Given the description of an element on the screen output the (x, y) to click on. 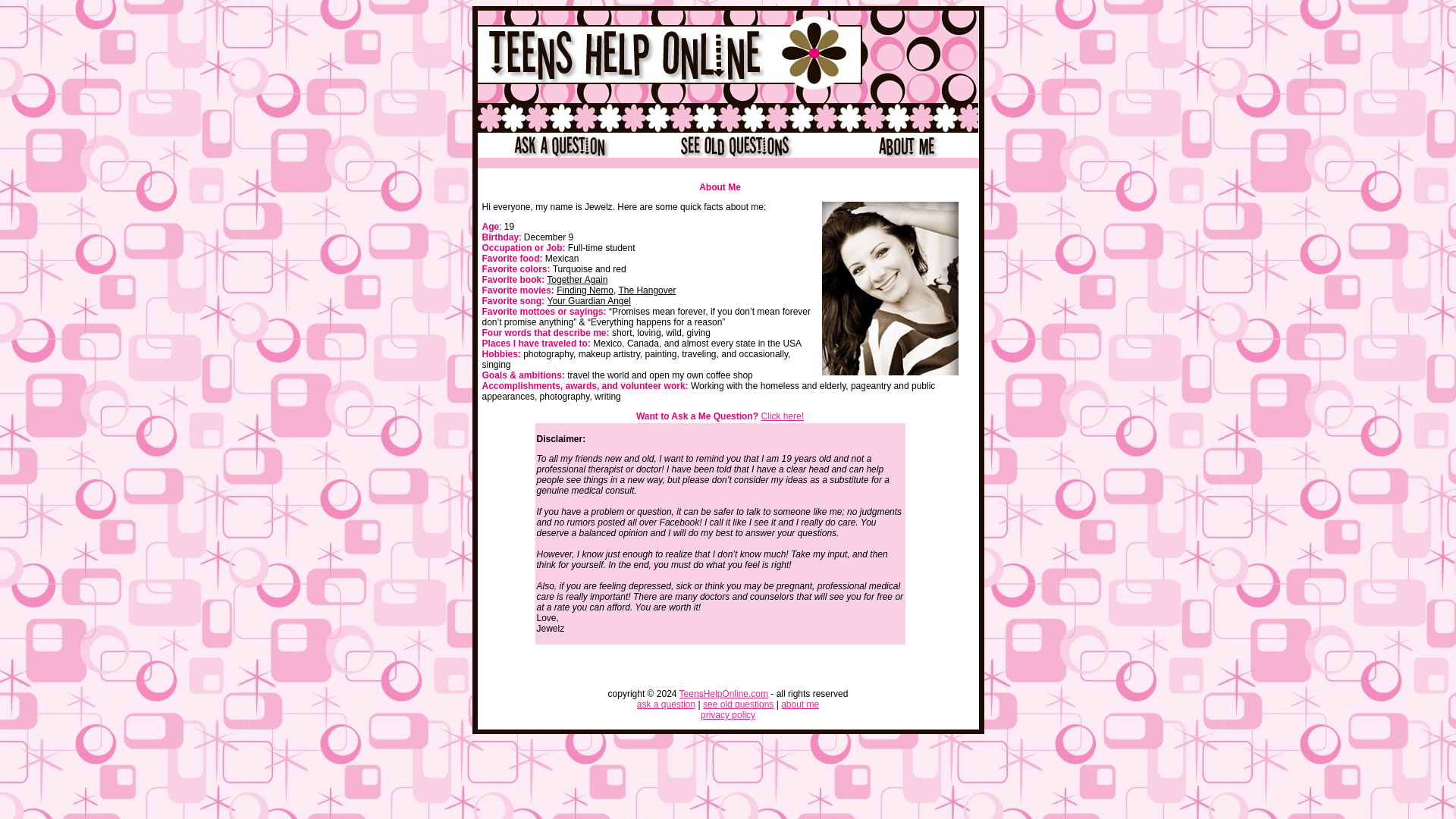
about me (799, 704)
Click here! (781, 416)
ask a question (666, 704)
privacy policy (727, 715)
TeensHelpOnline.com (723, 693)
see old questions (738, 704)
